Given the description of an element on the screen output the (x, y) to click on. 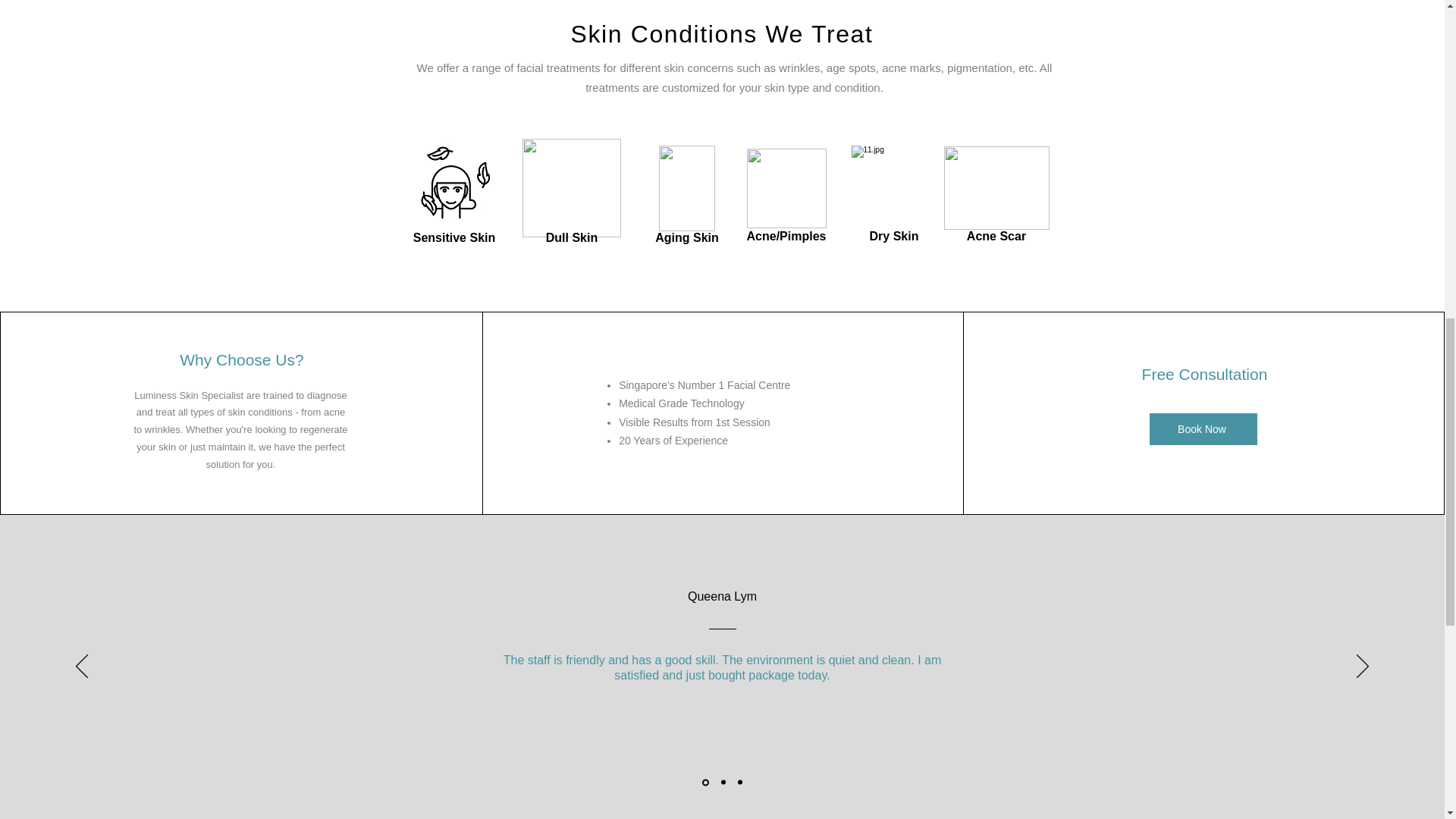
Sensitive Skin (454, 237)
Dull Skin (571, 237)
Acne Scar (996, 236)
Dry Skin (893, 236)
Book Now (1203, 429)
